Given the description of an element on the screen output the (x, y) to click on. 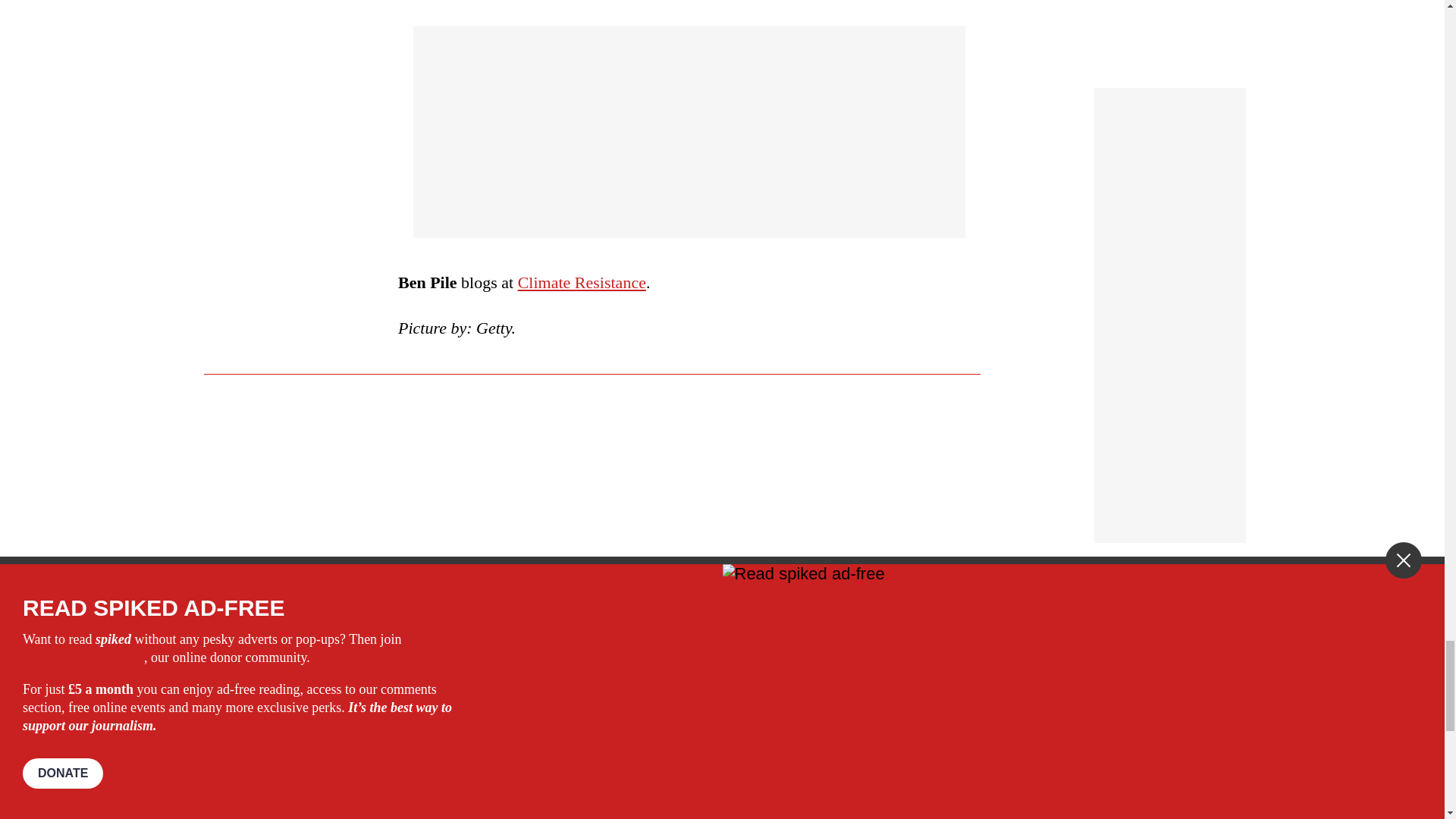
Share on Facebook (448, 728)
Share on Email (518, 728)
Share on Whatsapp (494, 728)
Share on Twitter (471, 728)
